Given the description of an element on the screen output the (x, y) to click on. 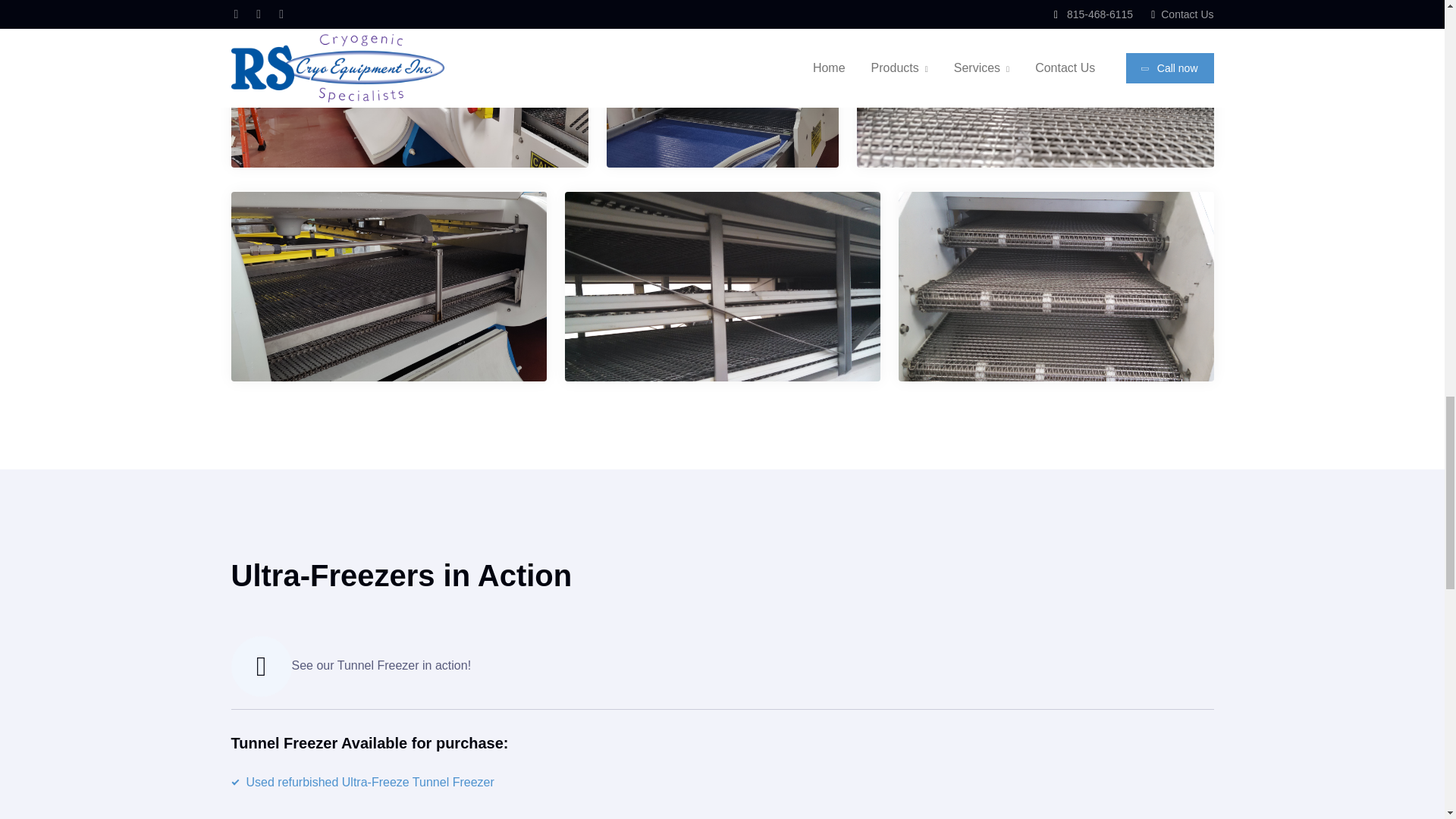
Used refurbished Ultra-Freeze Tunnel Freezer (369, 781)
